Given the description of an element on the screen output the (x, y) to click on. 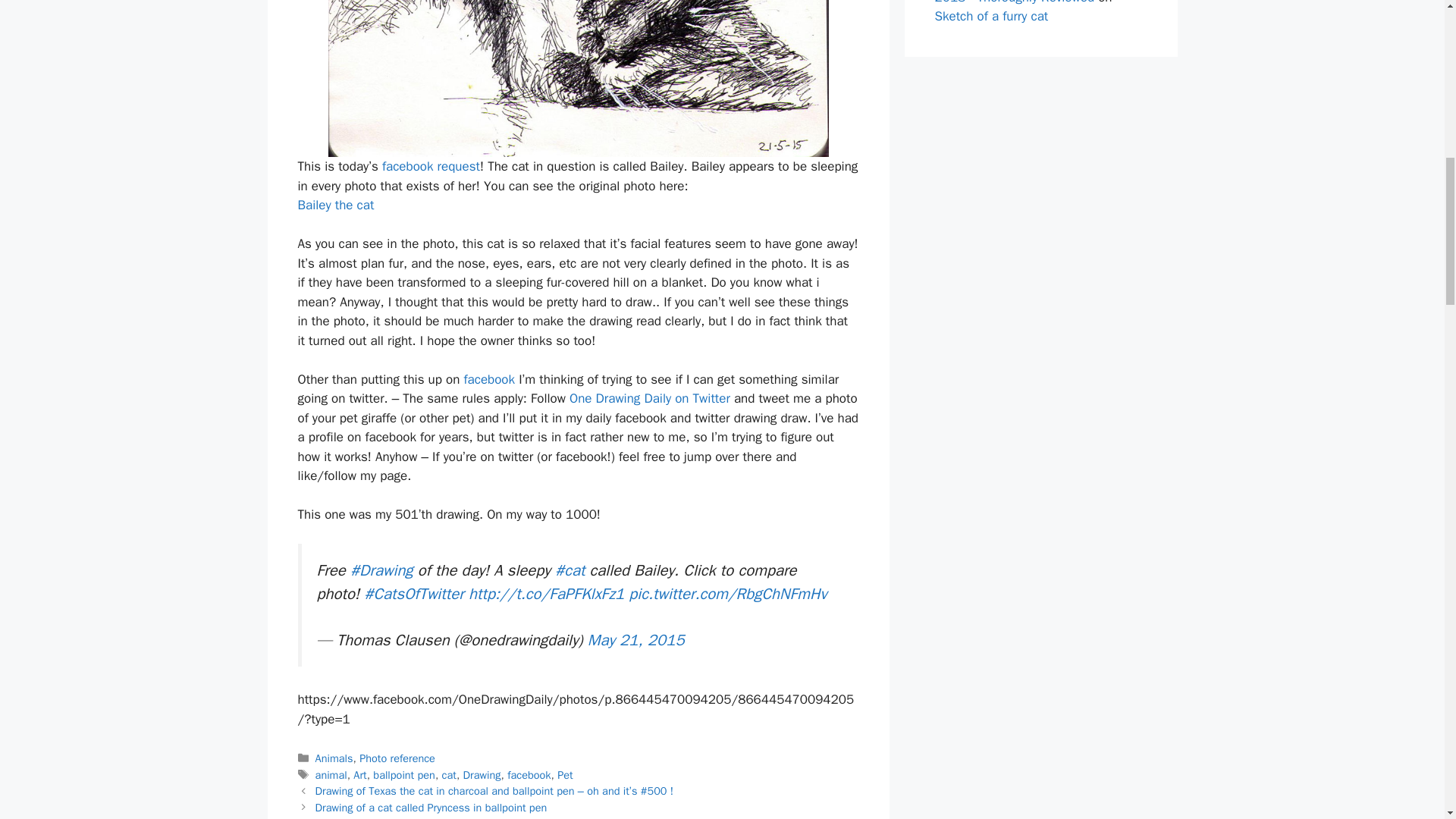
May 21, 2015 (636, 639)
ballpoint pen (403, 775)
facebook (528, 775)
Pet (564, 775)
cat (449, 775)
Previous (494, 790)
facebook request (430, 166)
Animals (334, 757)
Drawing of a cat called Pryncess in ballpoint pen (431, 807)
Art (359, 775)
